Given the description of an element on the screen output the (x, y) to click on. 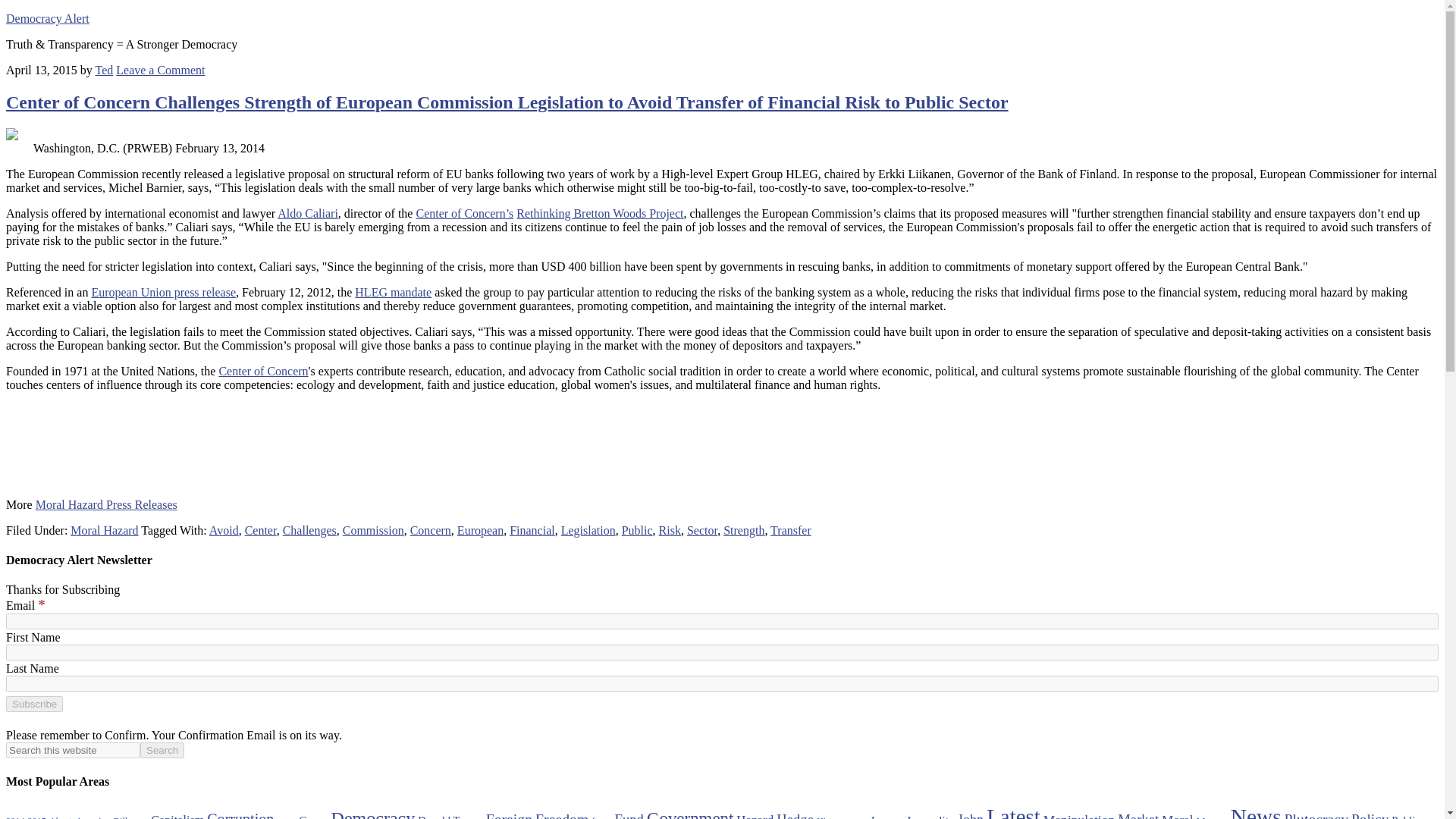
Commission (373, 530)
Avoid (223, 530)
2015 (36, 817)
Concern (430, 530)
Subscribe (33, 703)
Public (636, 530)
HLEG mandate (392, 291)
Financial (531, 530)
Democracy Alert (46, 18)
Challenges (309, 530)
Sector (702, 530)
Center of Concern (463, 213)
Transfer (790, 530)
Moral Hazard Press Releases (105, 504)
